Given the description of an element on the screen output the (x, y) to click on. 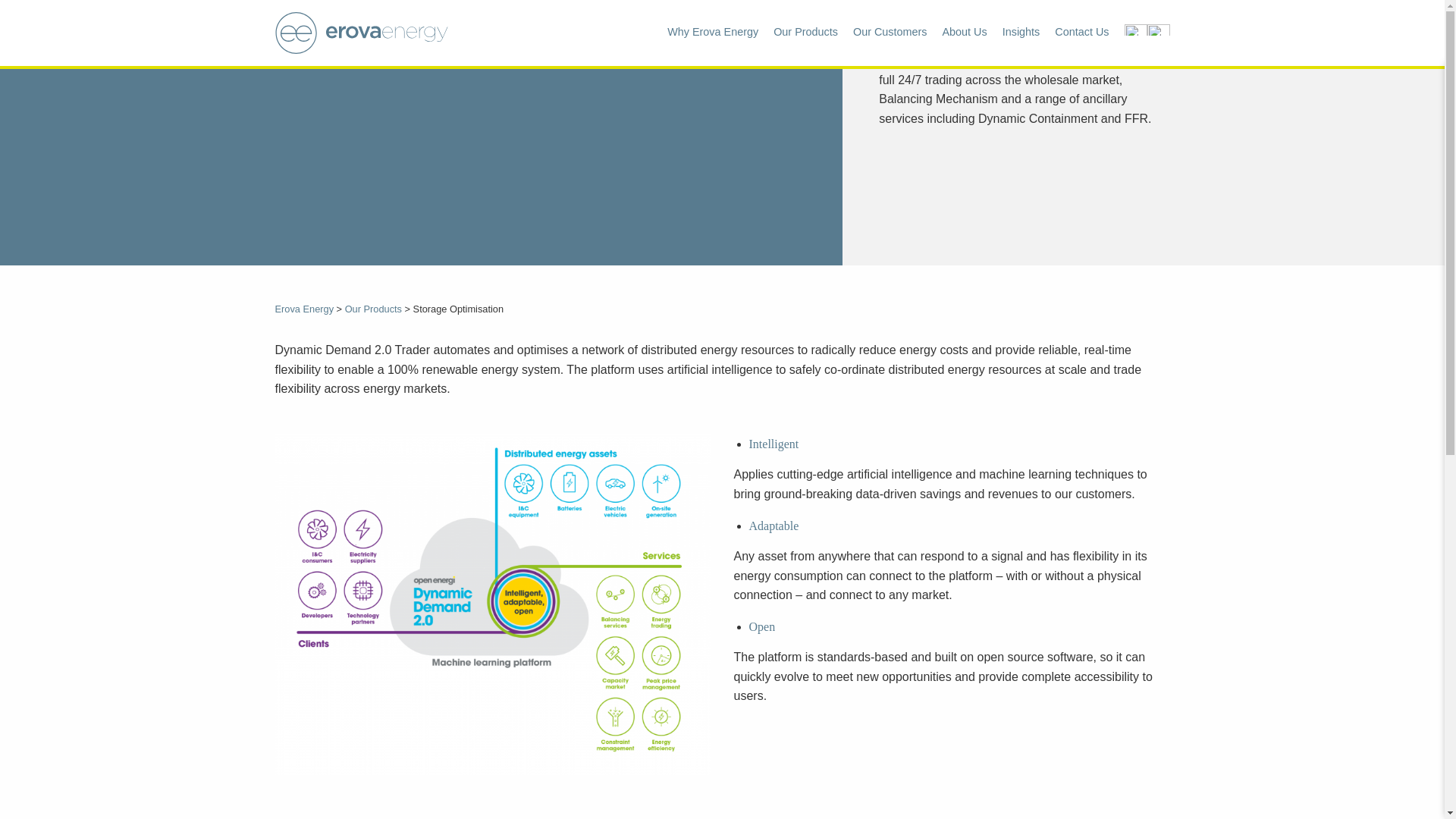
About Us (964, 32)
Insights (1022, 32)
Our Customers (890, 32)
Erova Energy (304, 308)
Go to Our Products. (373, 308)
Why Erova Energy (712, 32)
Contact Us (1081, 32)
Our Products (805, 32)
Go to Erova Energy. (304, 308)
Our Products (373, 308)
